Given the description of an element on the screen output the (x, y) to click on. 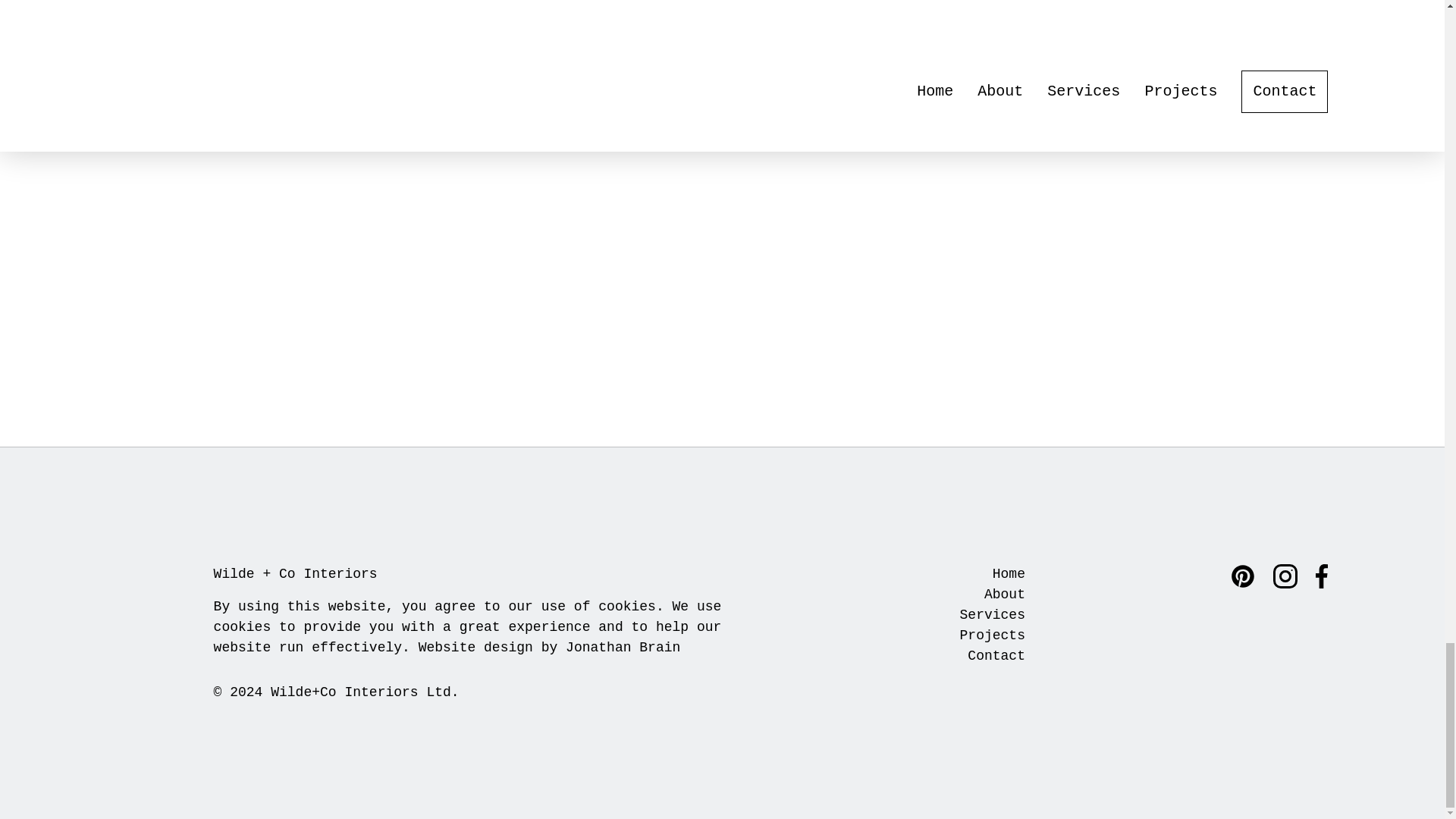
Home (1008, 573)
Contact (996, 655)
About (1004, 594)
Projects (992, 635)
Jonathan Brain (622, 647)
Services (992, 614)
